Given the description of an element on the screen output the (x, y) to click on. 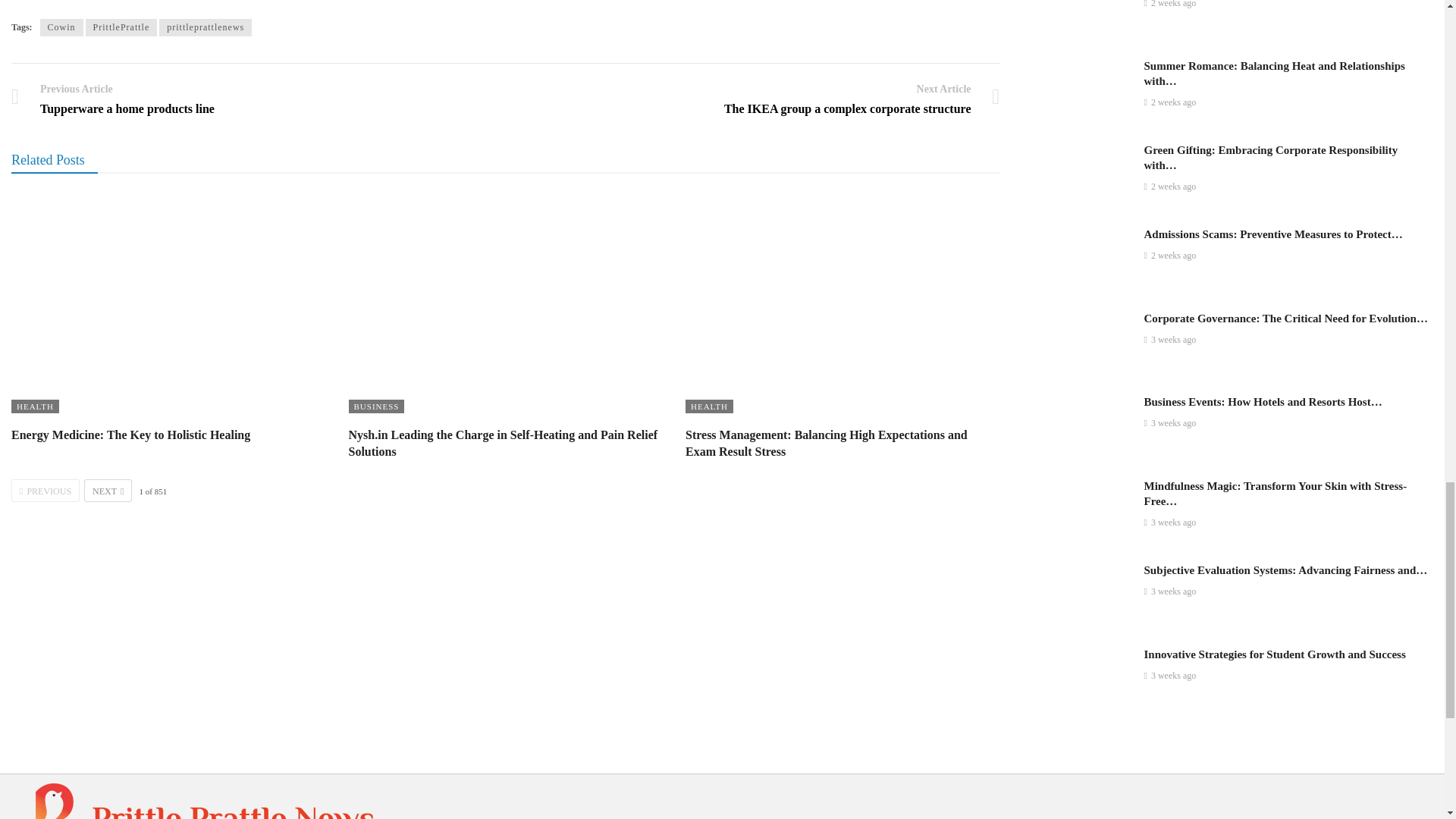
Next (108, 490)
Previous (45, 490)
Energy Medicine: The Key to Holistic Healing (130, 434)
Energy Medicine: The Key to Holistic Healing (168, 302)
